Given the description of an element on the screen output the (x, y) to click on. 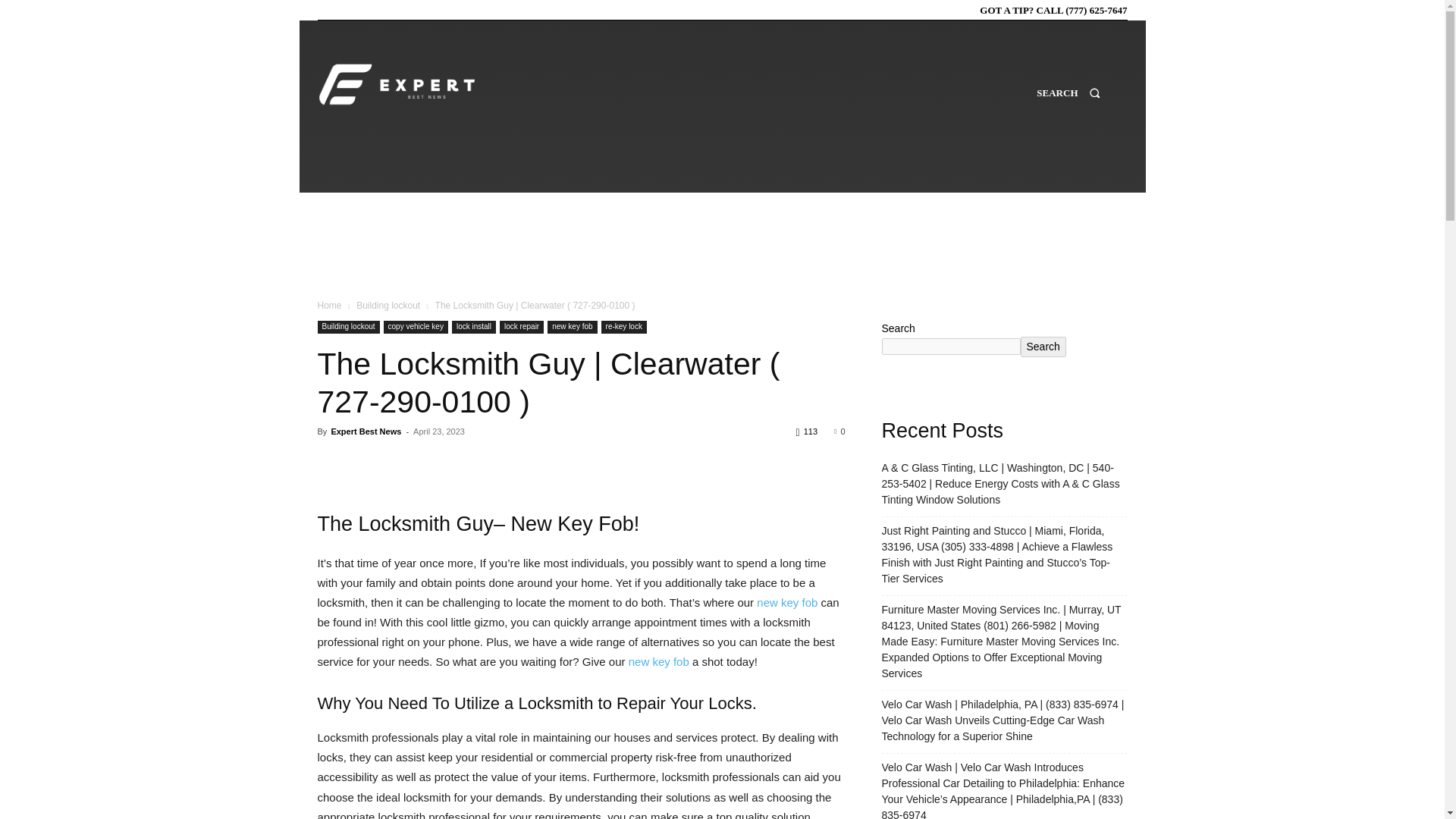
new key fob (658, 661)
The Locksmith Guy (405, 523)
Home (328, 305)
View all posts in Building lockout (388, 305)
copy vehicle key (416, 327)
Building lockout (347, 327)
0 (839, 430)
Expert Best News (365, 430)
SEARCH (1067, 106)
lock repair (521, 327)
